Given the description of an element on the screen output the (x, y) to click on. 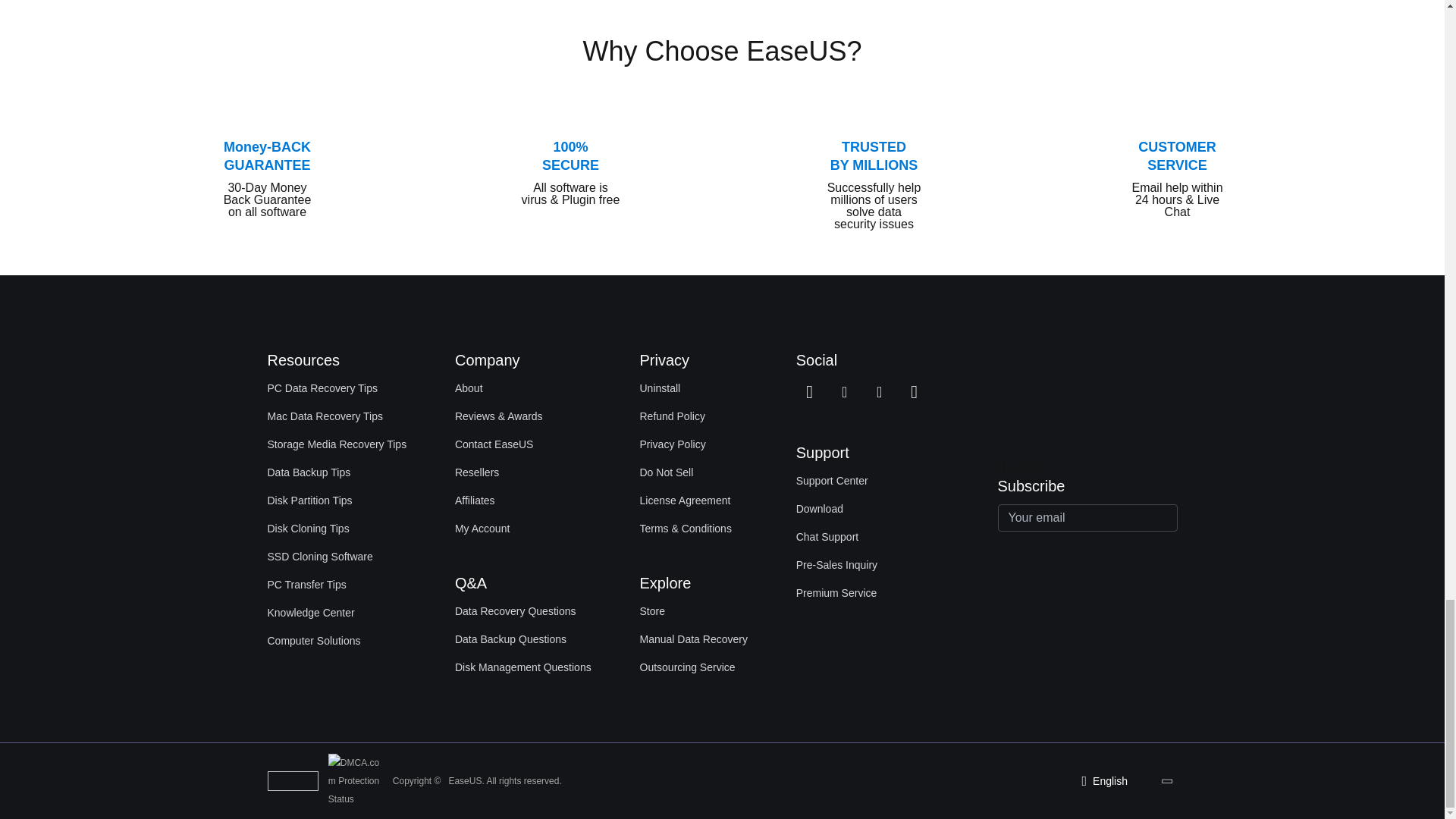
DMCA.com Protection Status (358, 779)
